Given the description of an element on the screen output the (x, y) to click on. 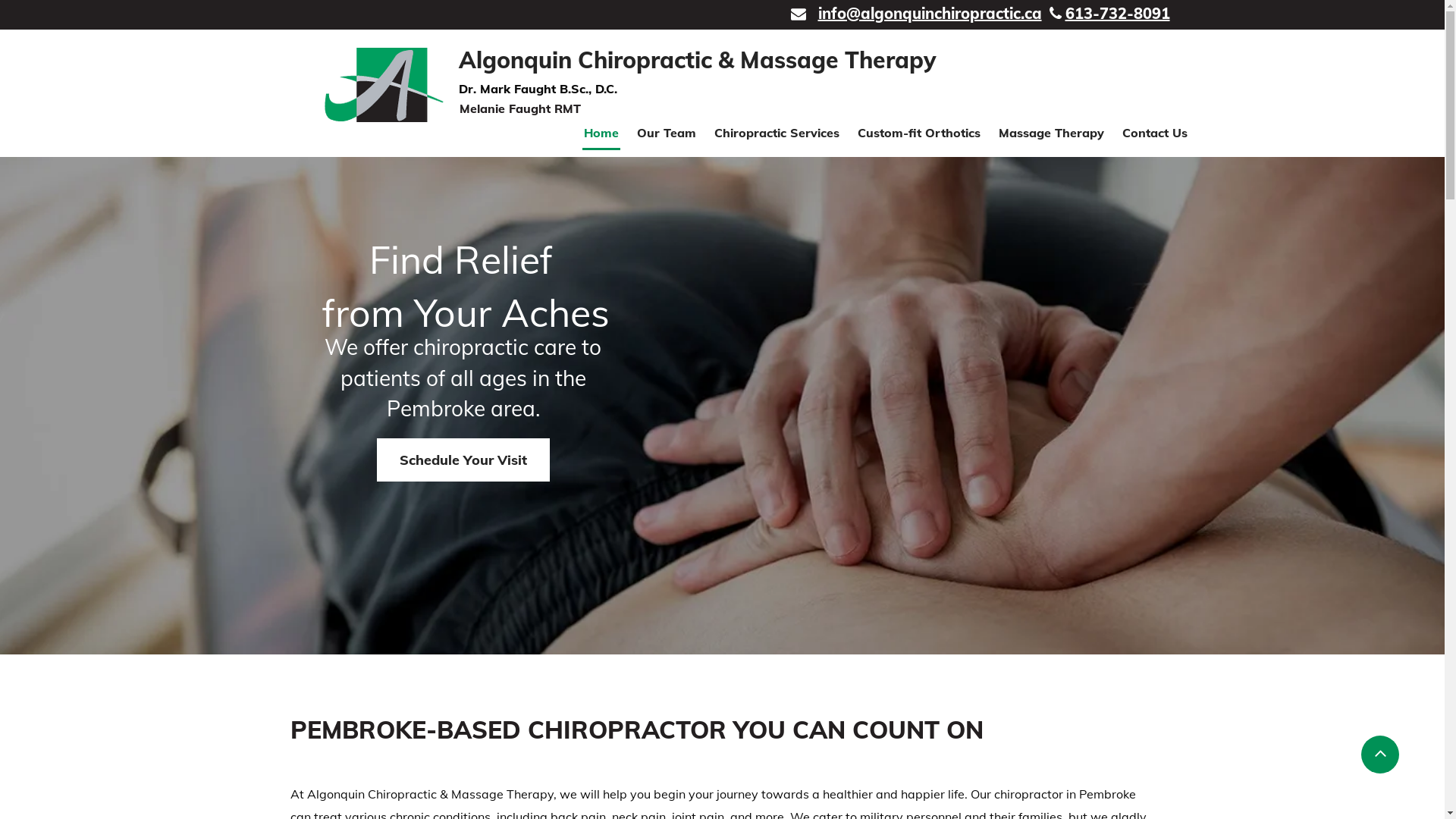
Contact Us Element type: text (1154, 133)
Algonquin Chiropractic & Massage Therapy Element type: text (697, 59)
613-732-8091 Element type: text (1116, 13)
Home Element type: text (601, 133)
info@algonquinchiropractic.ca Element type: text (929, 12)
Custom-fit Orthotics Element type: text (919, 133)
Massage Therapy Element type: text (1051, 133)
Chiropractic Services Element type: text (776, 133)
Schedule Your Visit Element type: text (462, 459)
Our Team Element type: text (666, 133)
